Given the description of an element on the screen output the (x, y) to click on. 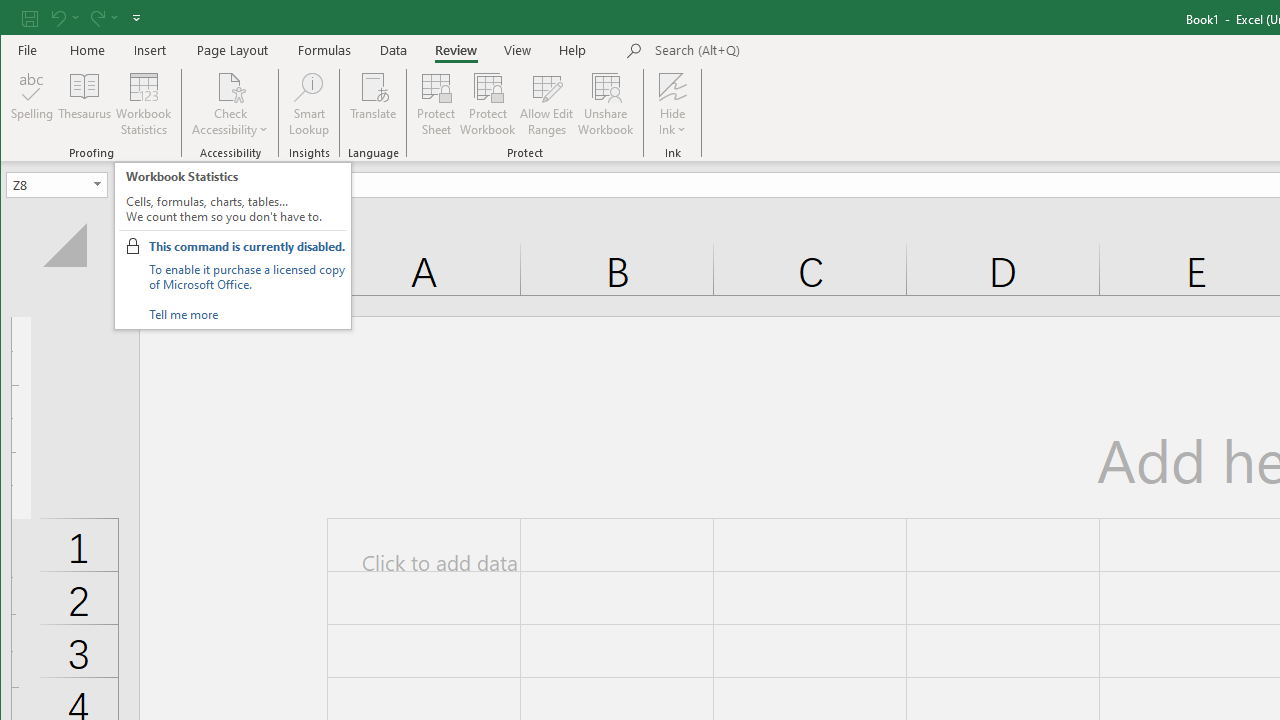
Name Box (48, 184)
View (518, 50)
Protect Sheet... (436, 104)
Customize Quick Access Toolbar (136, 17)
More Options (672, 123)
Thesaurus... (84, 104)
Unshare Workbook (606, 104)
Open (98, 184)
